Given the description of an element on the screen output the (x, y) to click on. 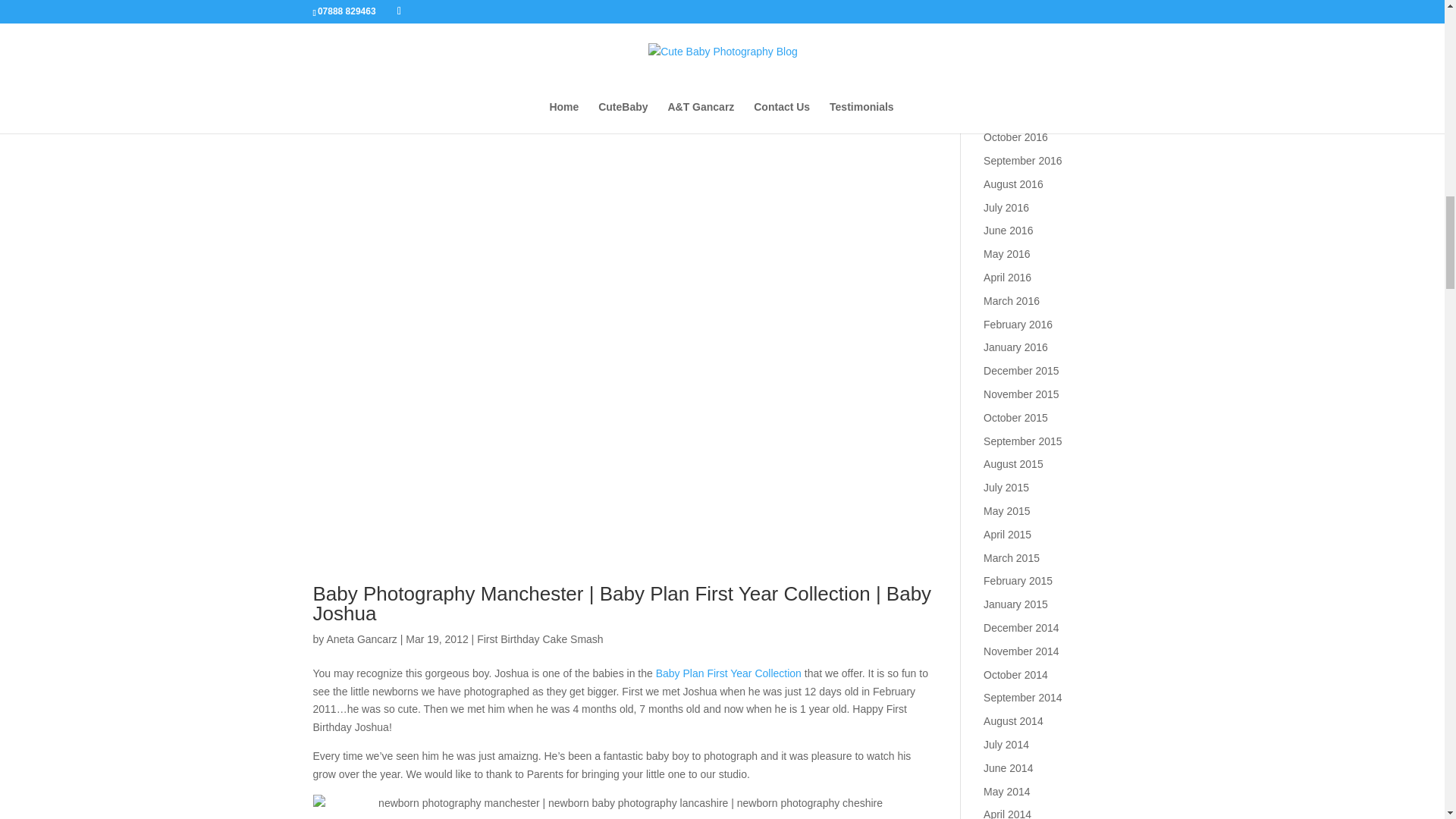
Posts by Aneta Gancarz (361, 639)
Aneta Gancarz (361, 639)
Baby Plan First Year Collection (729, 673)
First Birthday Cake Smash (540, 639)
